Given the description of an element on the screen output the (x, y) to click on. 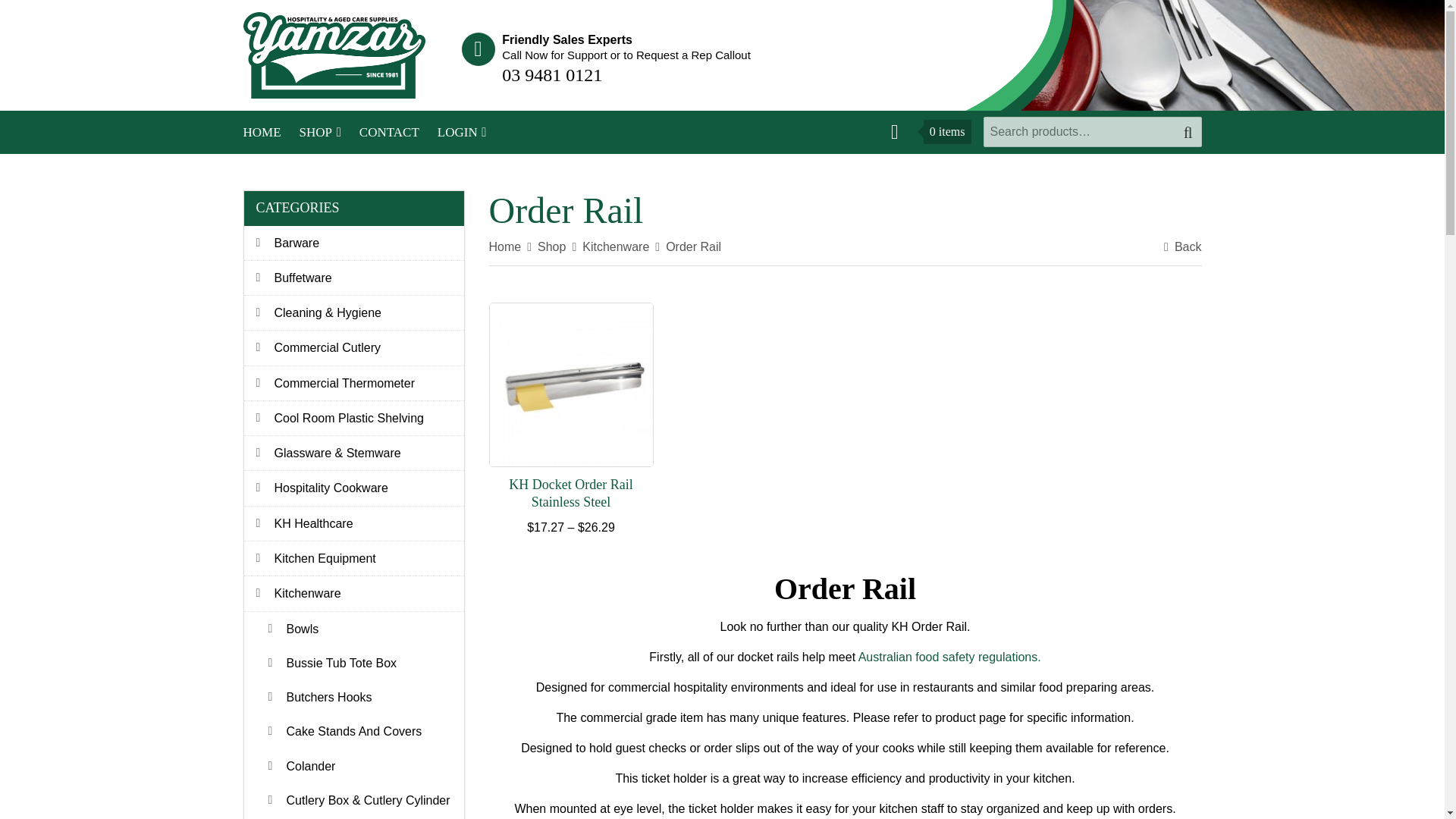
Login (462, 132)
CONTACT (389, 132)
Contact (389, 132)
Home (260, 132)
HOME (260, 132)
Search (1188, 132)
LOGIN (462, 132)
Shop (319, 132)
0 items (925, 132)
YAMZAR Commercial Hospitality Supplies (334, 53)
SHOP (319, 132)
